Given the description of an element on the screen output the (x, y) to click on. 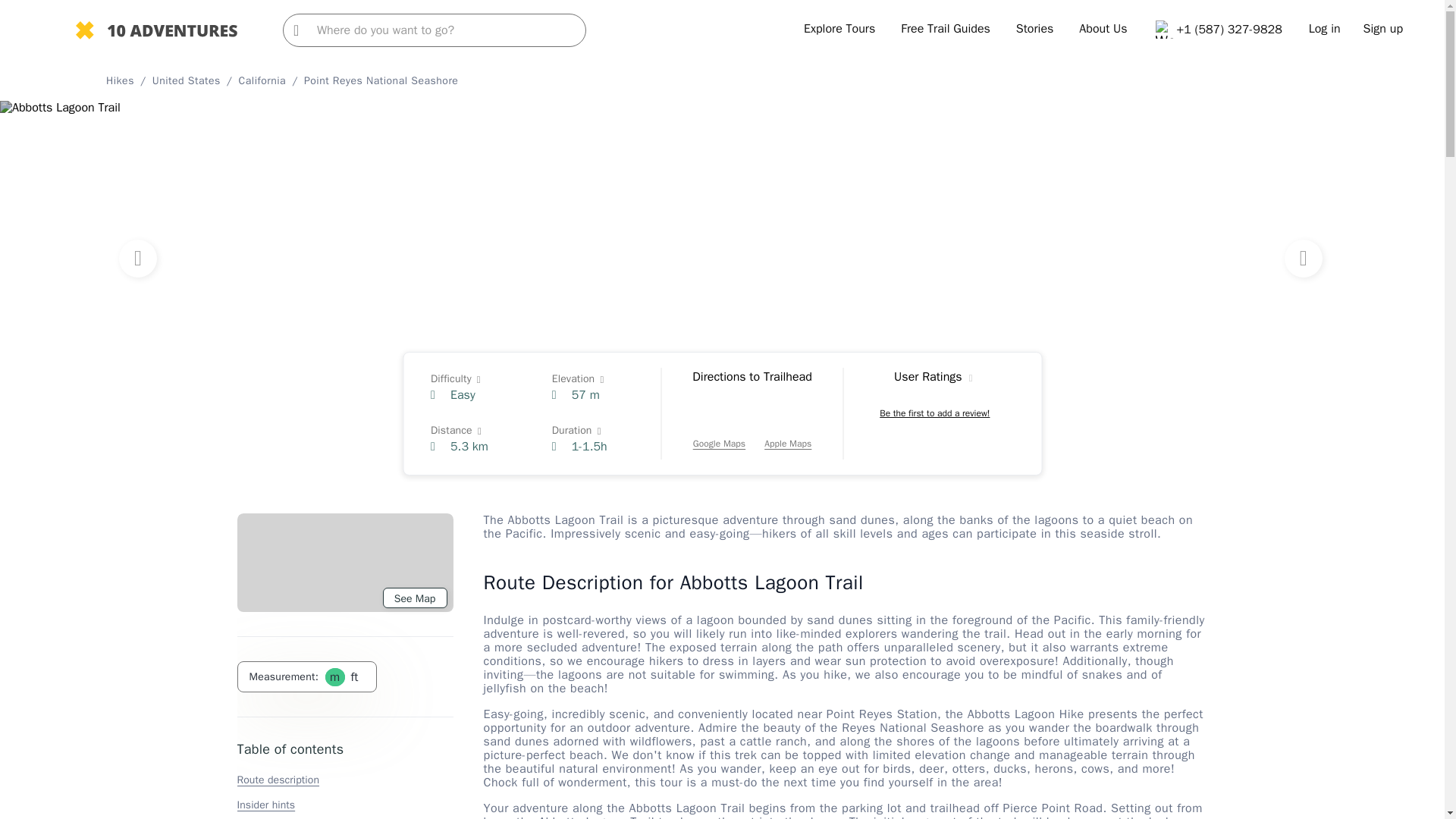
Point Reyes National Seashore (381, 80)
Free Trail Guides (945, 28)
About Us (1102, 28)
Google Maps (718, 428)
Log in (1324, 28)
United States (186, 80)
Be the first to add a review! (934, 413)
Insider hints (265, 804)
imperial (353, 676)
Hikes (119, 80)
